Given the description of an element on the screen output the (x, y) to click on. 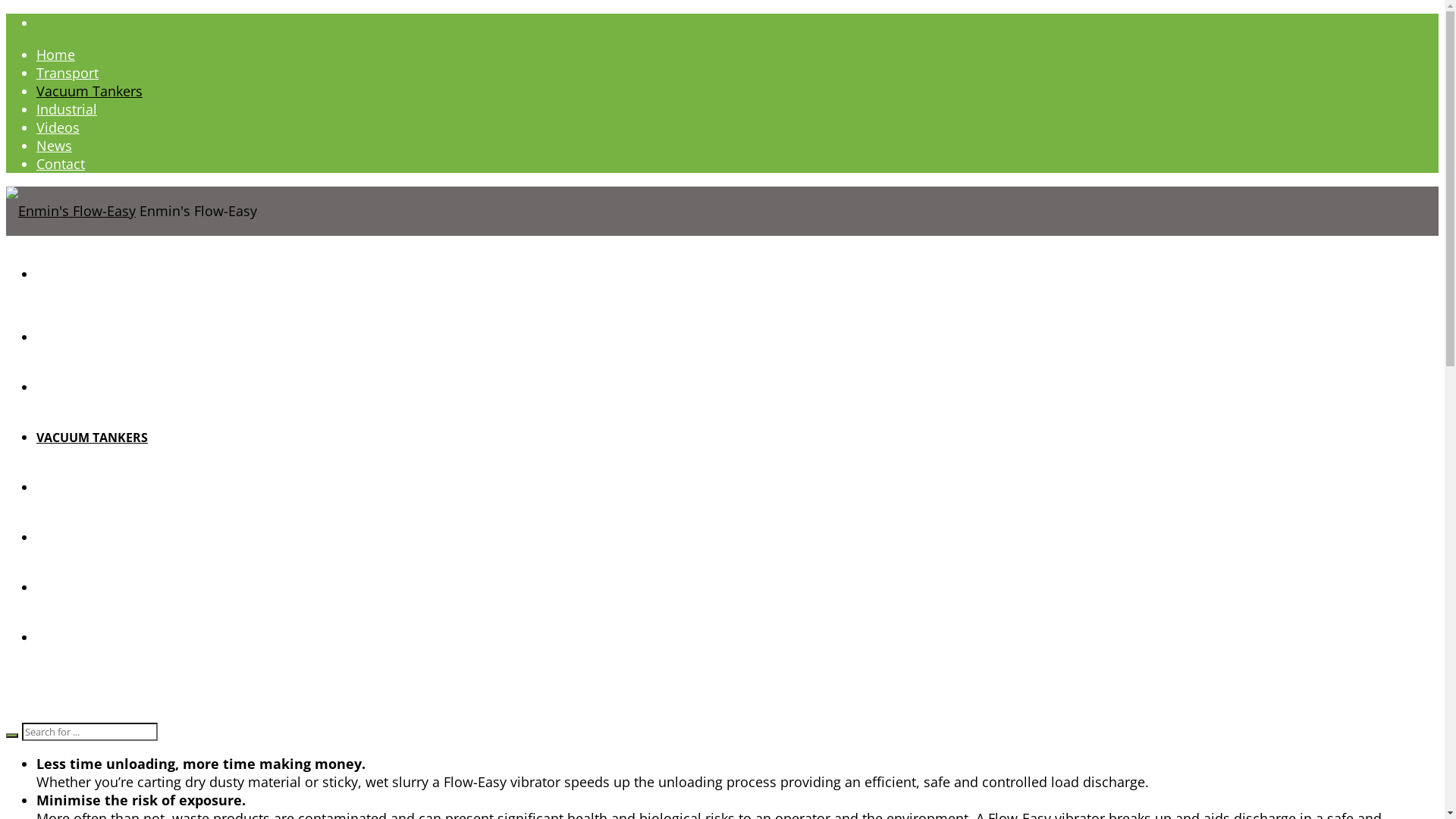
CONTACT Element type: text (64, 637)
Industrial Element type: text (66, 109)
Home Element type: text (55, 54)
Transport Element type: text (67, 72)
HOME Element type: text (54, 337)
News Element type: text (54, 145)
Videos Element type: text (57, 127)
Enmin's Flow-Easy Element type: hover (70, 210)
NEWS Element type: text (53, 587)
Vacuum Tankers Element type: text (89, 90)
Contact Element type: text (60, 163)
INDUSTRIAL Element type: text (72, 487)
VIDEOS Element type: text (58, 537)
VACUUM TANKERS Element type: text (91, 437)
TRANSPORT Element type: text (72, 387)
